Given the description of an element on the screen output the (x, y) to click on. 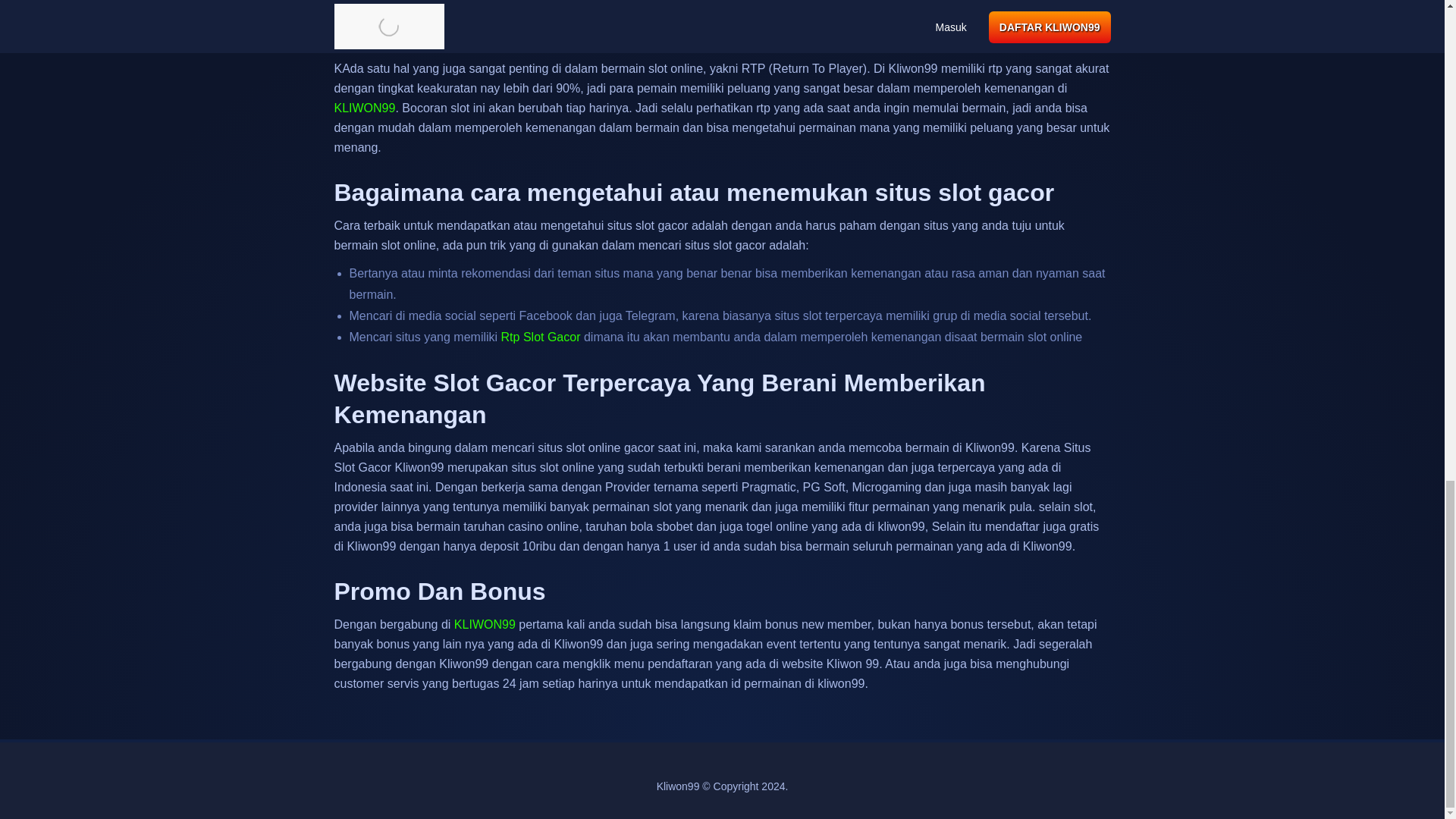
KLIWON99 (484, 624)
KLIWON99 (363, 107)
KLIWON99 (484, 624)
Rtp Slot Gacor (540, 336)
KLIWON99 (363, 107)
KLIWON99 (540, 336)
